Given the description of an element on the screen output the (x, y) to click on. 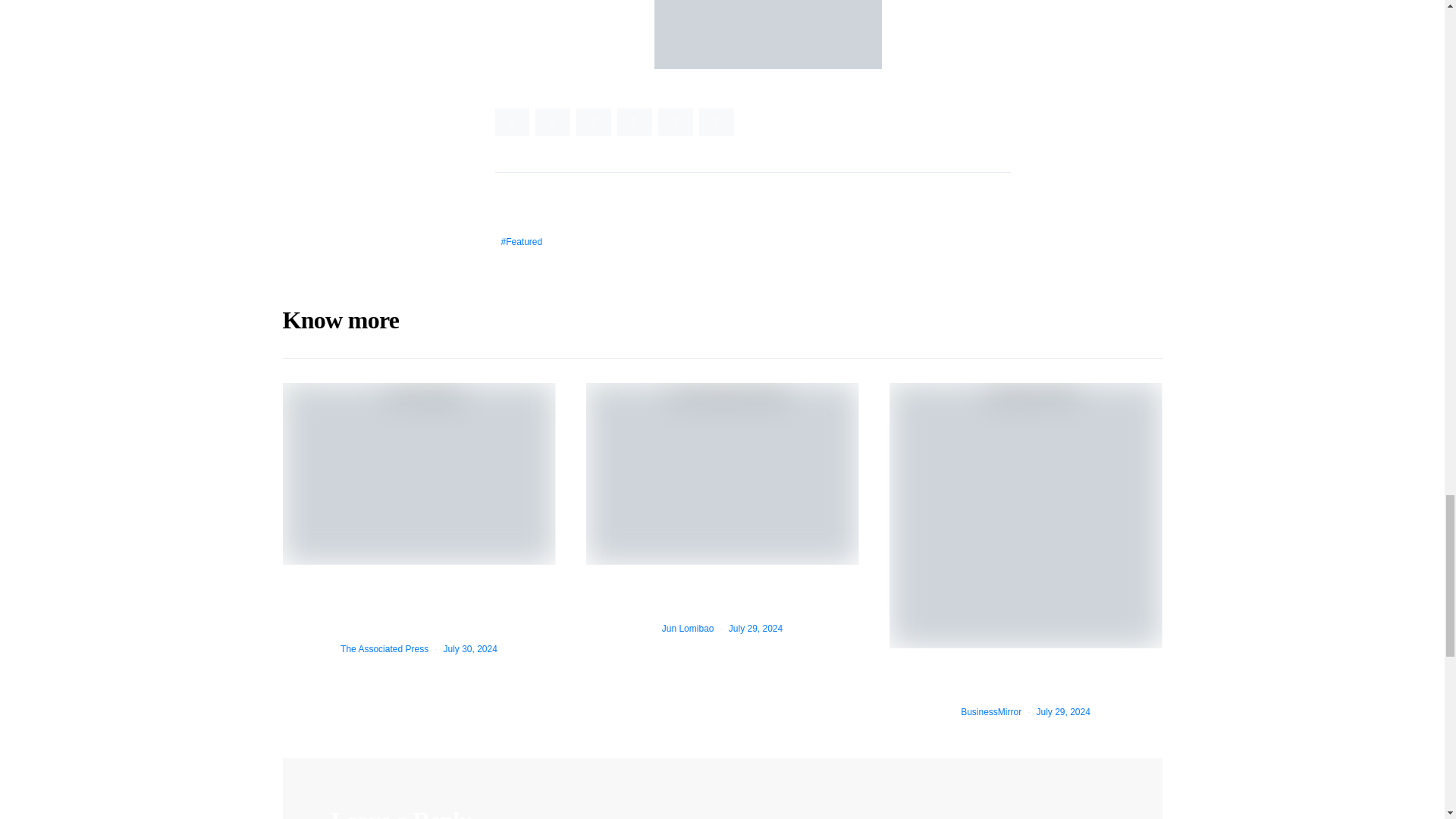
View all posts by BusinessMirror (991, 711)
View all posts by Jun Lomibao (688, 628)
View all posts by The Associated Press (384, 648)
